Given the description of an element on the screen output the (x, y) to click on. 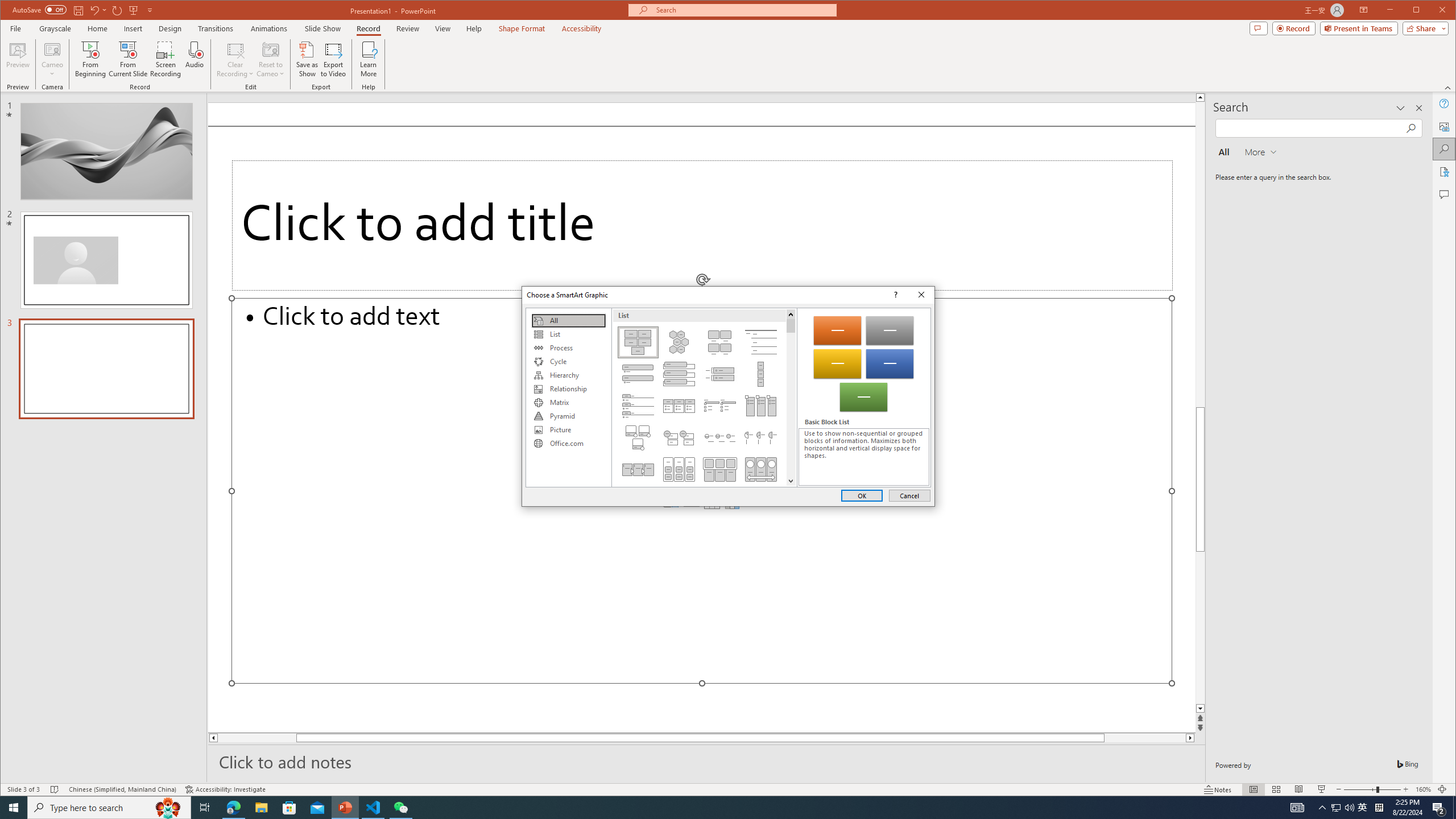
Graphic Categories (568, 397)
Matrix (568, 402)
Pyramid (568, 416)
Tab List (637, 405)
